Given the description of an element on the screen output the (x, y) to click on. 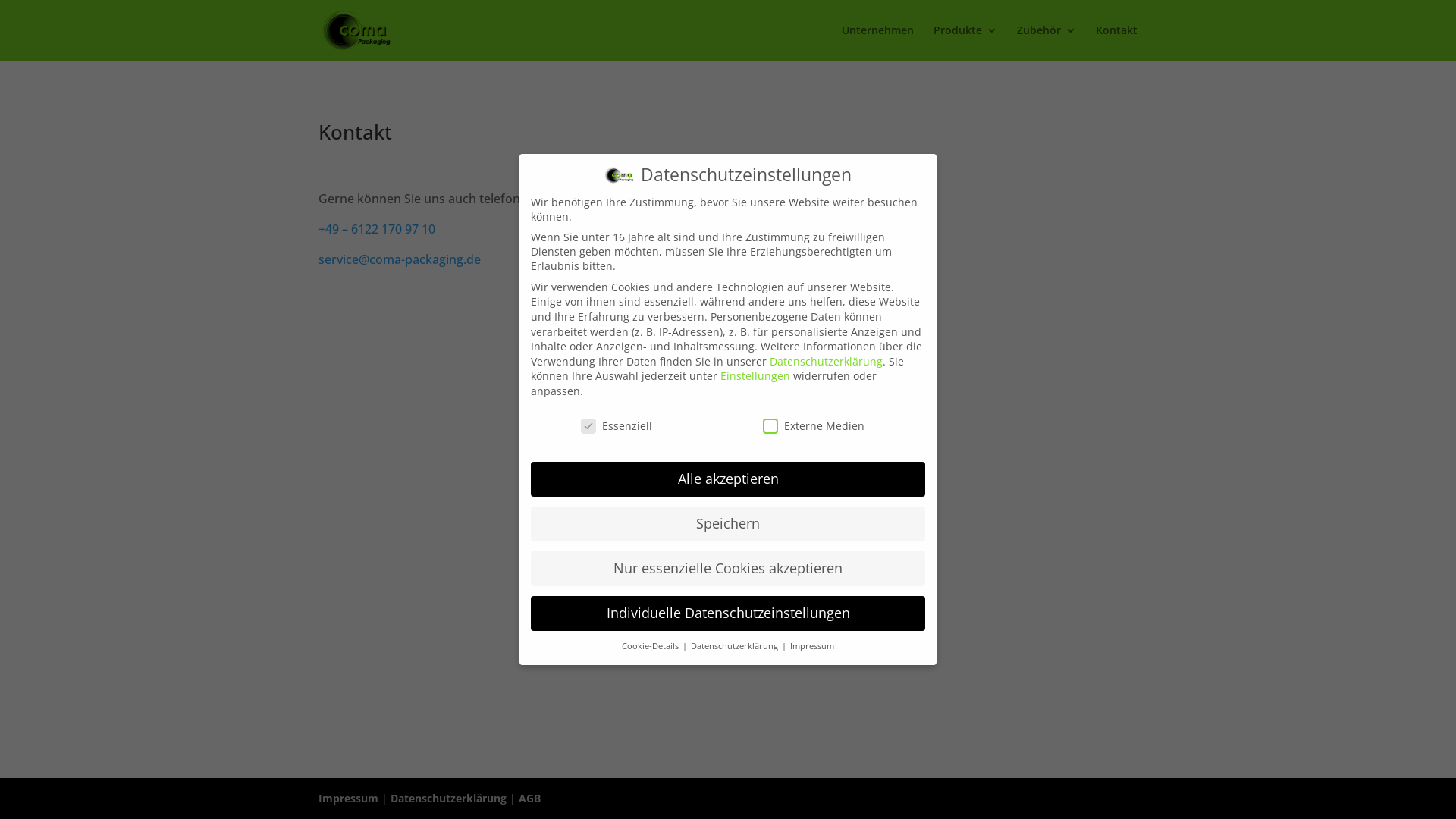
Einstellungen Element type: text (755, 375)
Unternehmen Element type: text (877, 42)
AGB Element type: text (529, 797)
Cookie-Details Element type: text (650, 645)
Alle akzeptieren Element type: text (727, 478)
Produkte Element type: text (965, 42)
Kontakt Element type: text (1116, 42)
Impressum Element type: text (348, 797)
Nur essenzielle Cookies akzeptieren Element type: text (727, 568)
Impressum Element type: text (812, 645)
service@coma-packaging.de Element type: text (399, 259)
Speichern Element type: text (727, 523)
Individuelle Datenschutzeinstellungen Element type: text (727, 613)
